Given the description of an element on the screen output the (x, y) to click on. 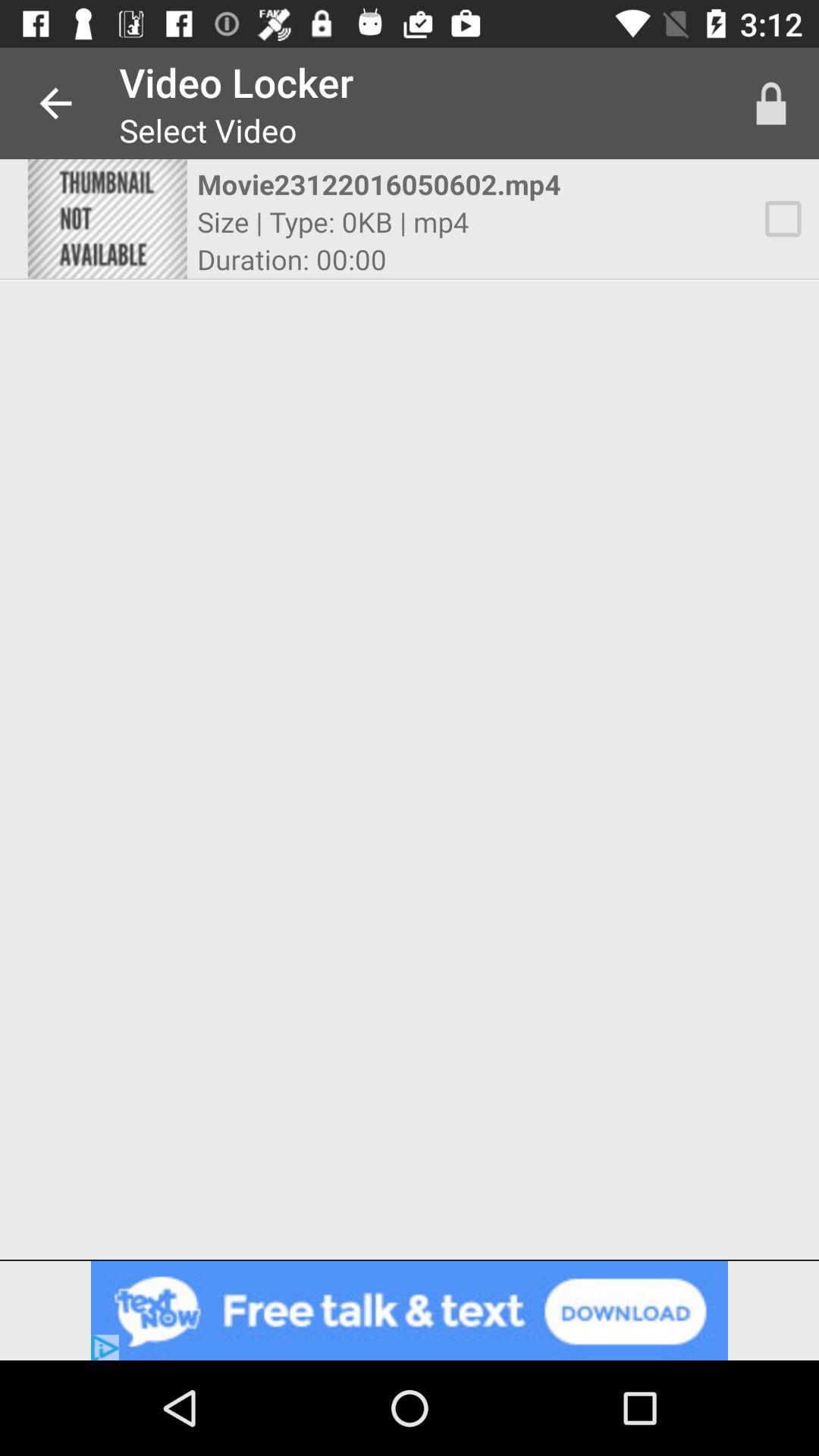
advertisement (409, 1310)
